Given the description of an element on the screen output the (x, y) to click on. 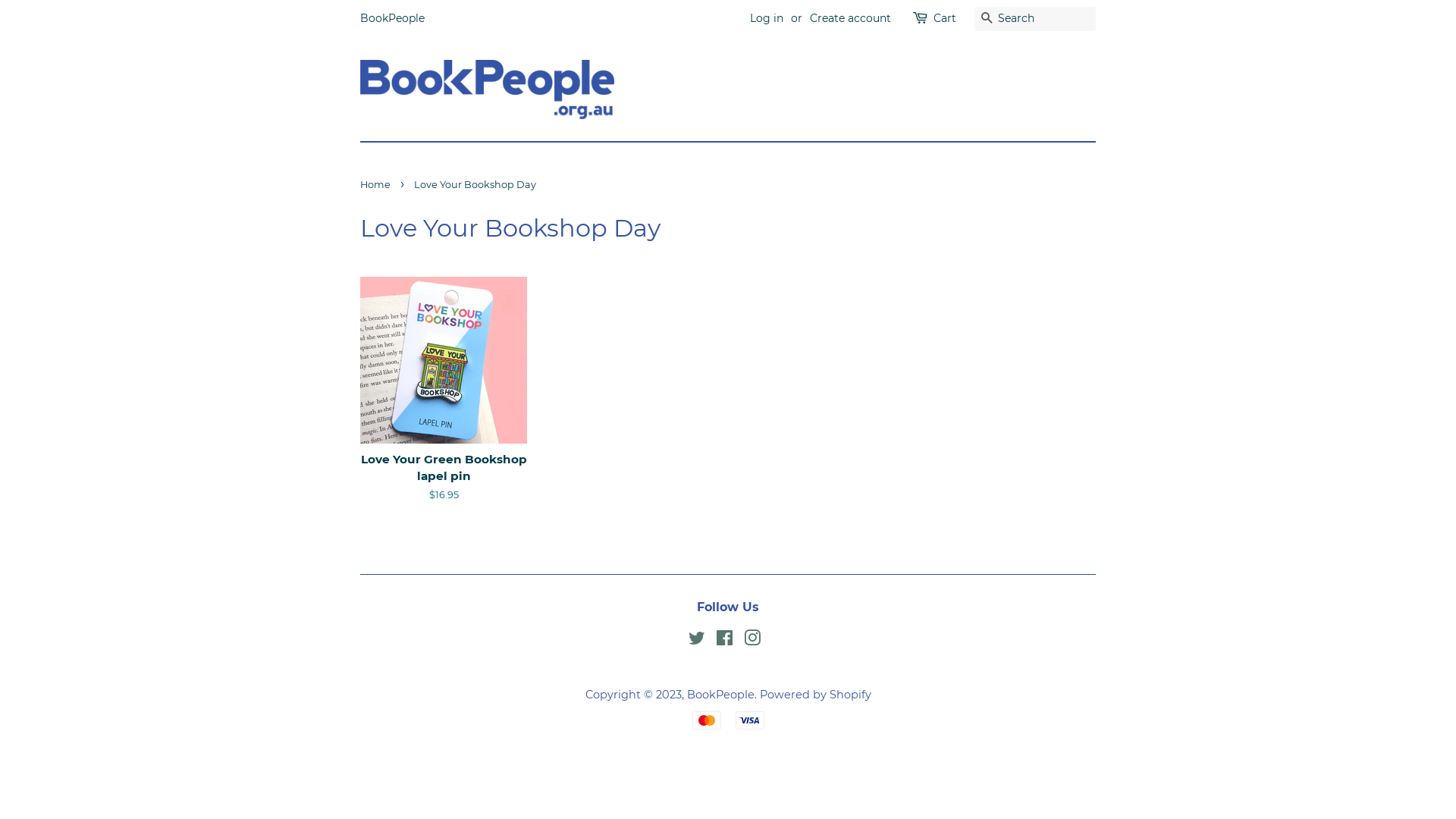
Instagram Element type: text (751, 640)
Powered by Shopify Element type: text (815, 694)
Home Element type: text (377, 184)
Love Your Green Bookshop lapel pin
Regular price
$16.95 Element type: text (443, 402)
Facebook Element type: text (724, 640)
Twitter Element type: text (696, 640)
Create account Element type: text (850, 18)
Log in Element type: text (766, 18)
BookPeople Element type: text (392, 18)
BookPeople Element type: text (720, 694)
Cart Element type: text (944, 18)
Search Element type: text (986, 18)
